Given the description of an element on the screen output the (x, y) to click on. 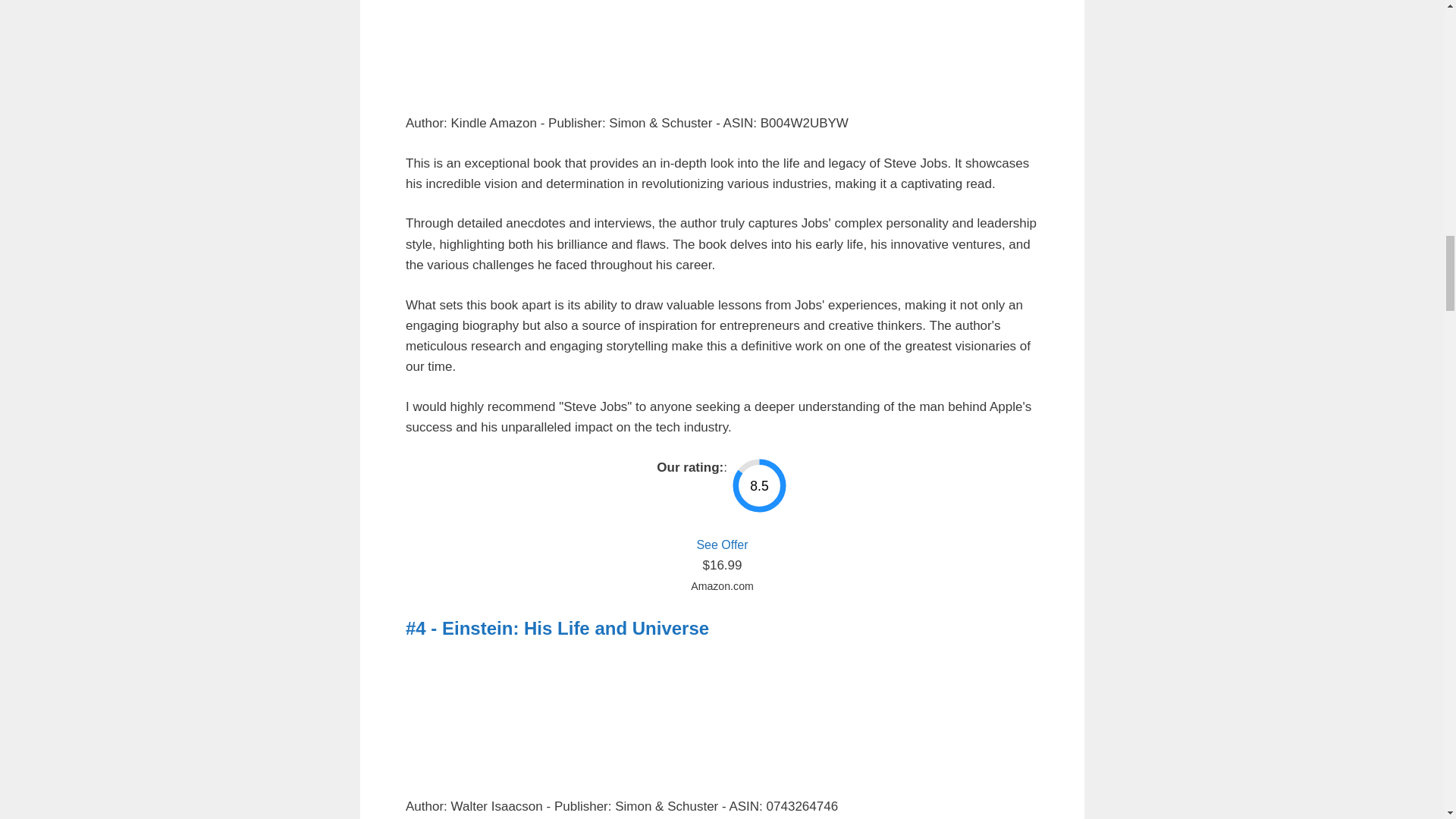
8.5 (758, 485)
See Offer (721, 544)
